Given the description of an element on the screen output the (x, y) to click on. 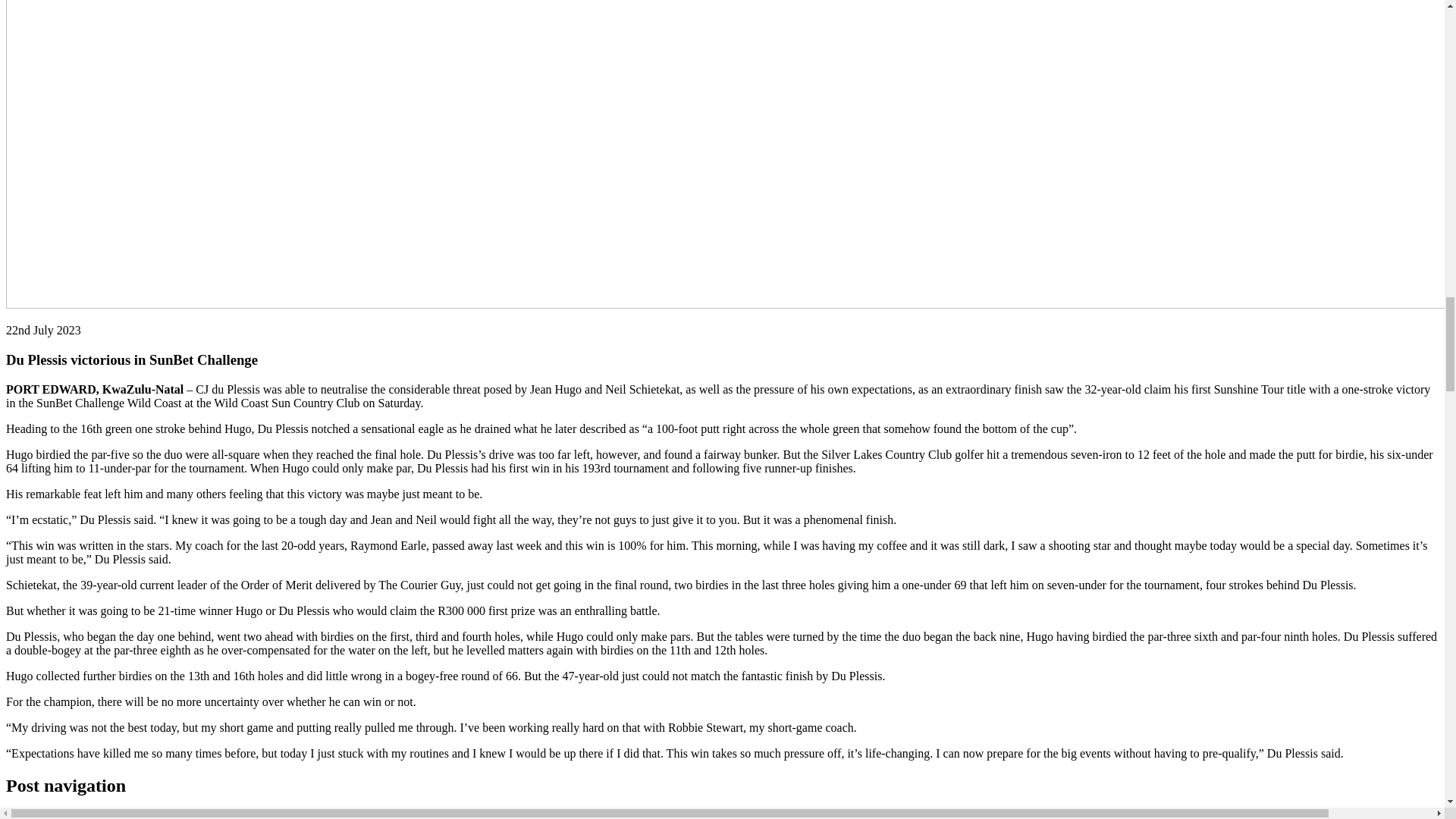
Top duo lead at SunBet Challenge    (92, 815)
